Given the description of an element on the screen output the (x, y) to click on. 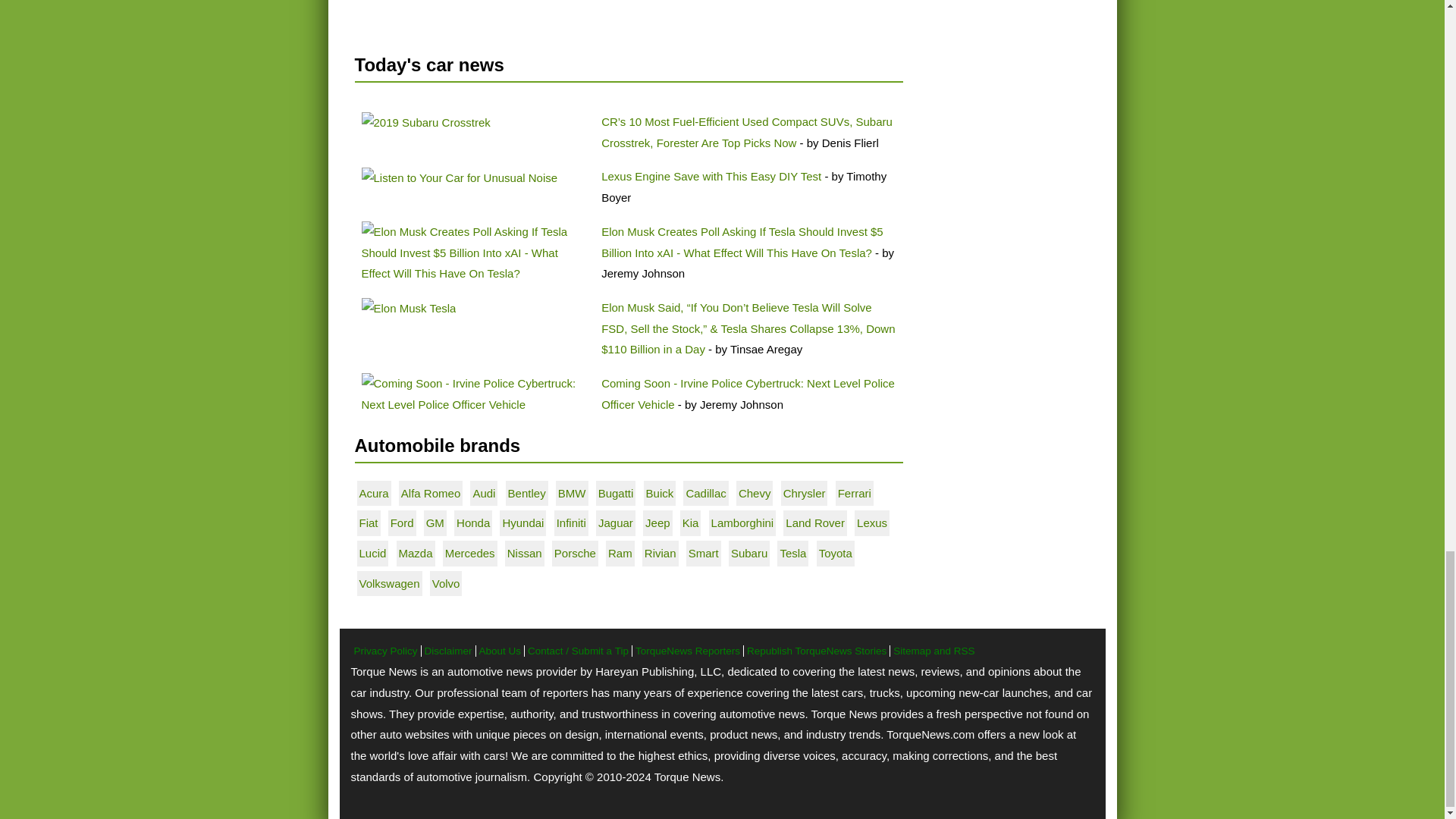
2019 Subaru Crosstrek Hybrid on a dirt road (425, 122)
Acura (373, 492)
Alfa Romeo (430, 492)
Engine Noise Does Not Just Go Away Warning (459, 178)
Lexus Engine Save with This Easy DIY Test (711, 175)
